Given the description of an element on the screen output the (x, y) to click on. 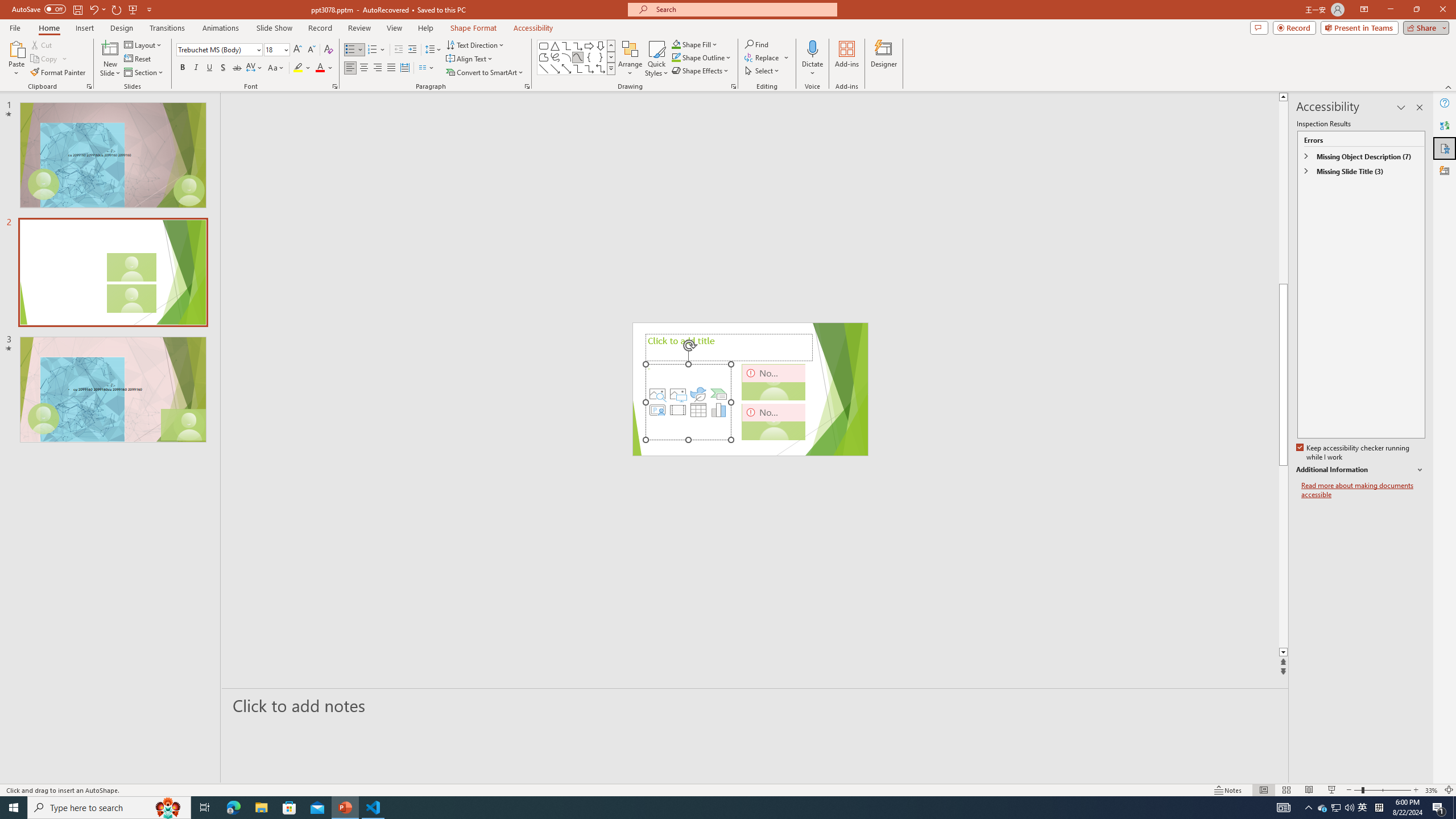
Camera 5, No camera detected. (773, 382)
